Given the description of an element on the screen output the (x, y) to click on. 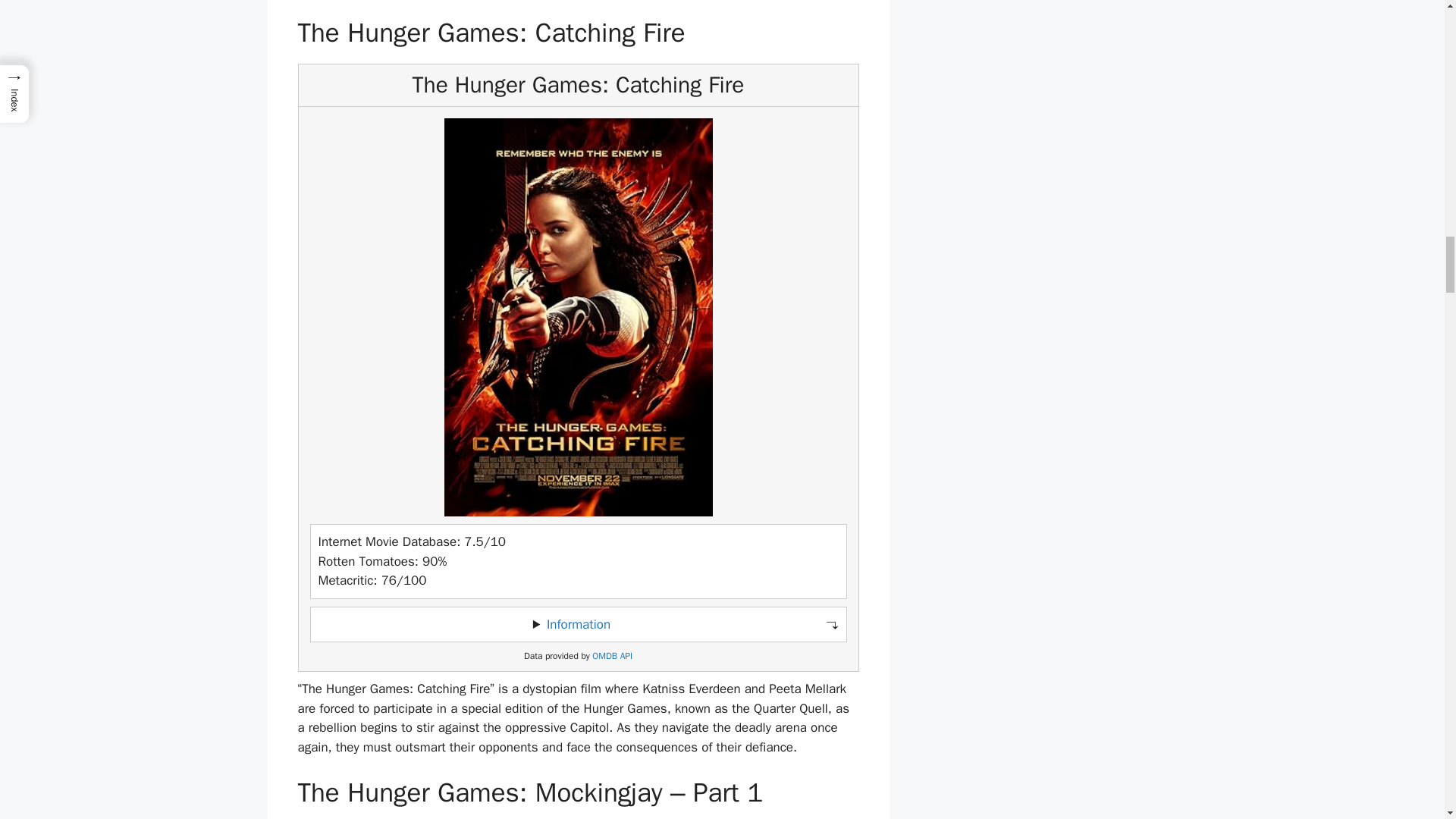
Toggle information (578, 624)
Open Movie Database API (611, 655)
OMDB API (611, 655)
Information (578, 624)
